Given the description of an element on the screen output the (x, y) to click on. 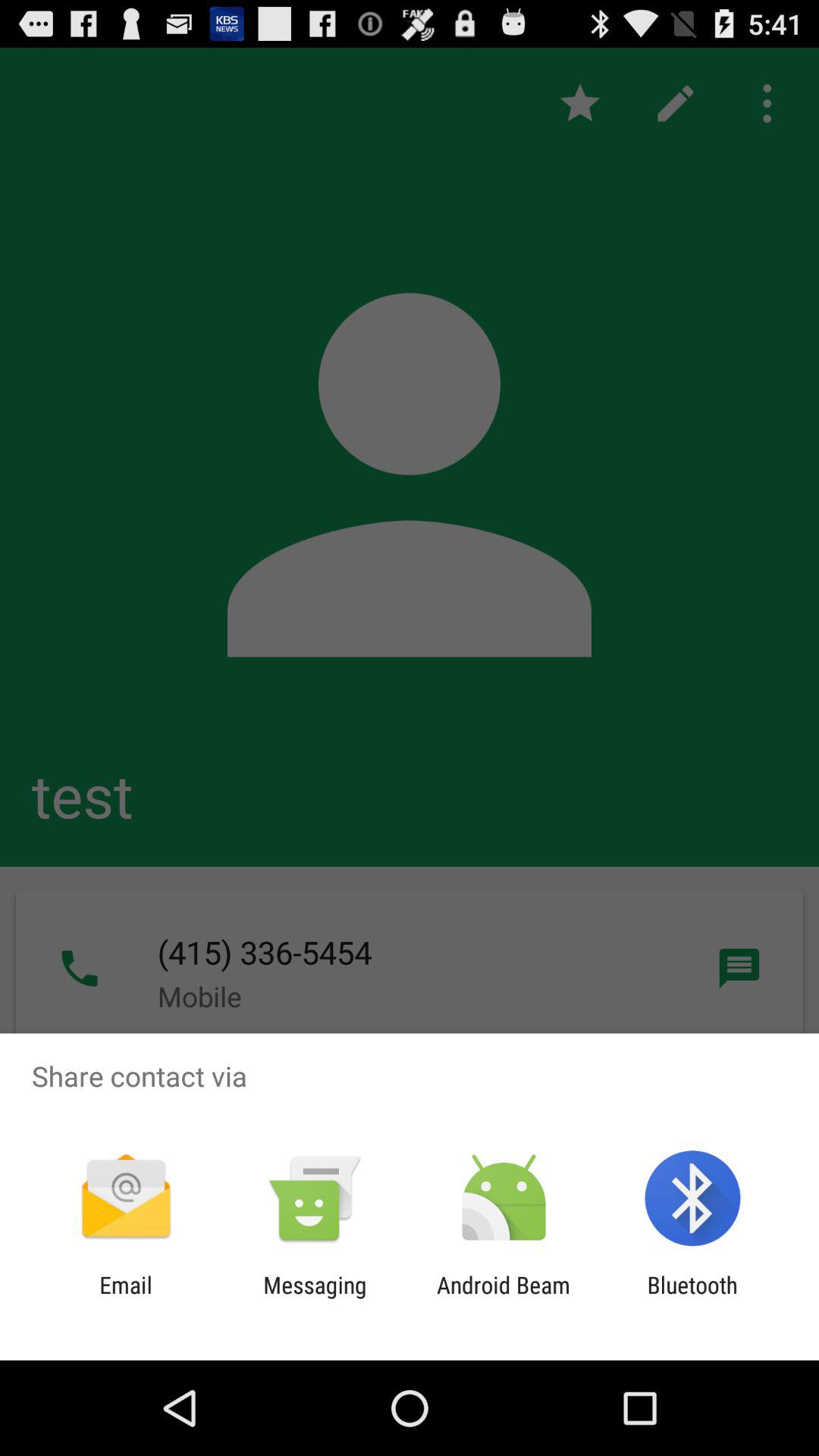
launch the bluetooth (692, 1298)
